Given the description of an element on the screen output the (x, y) to click on. 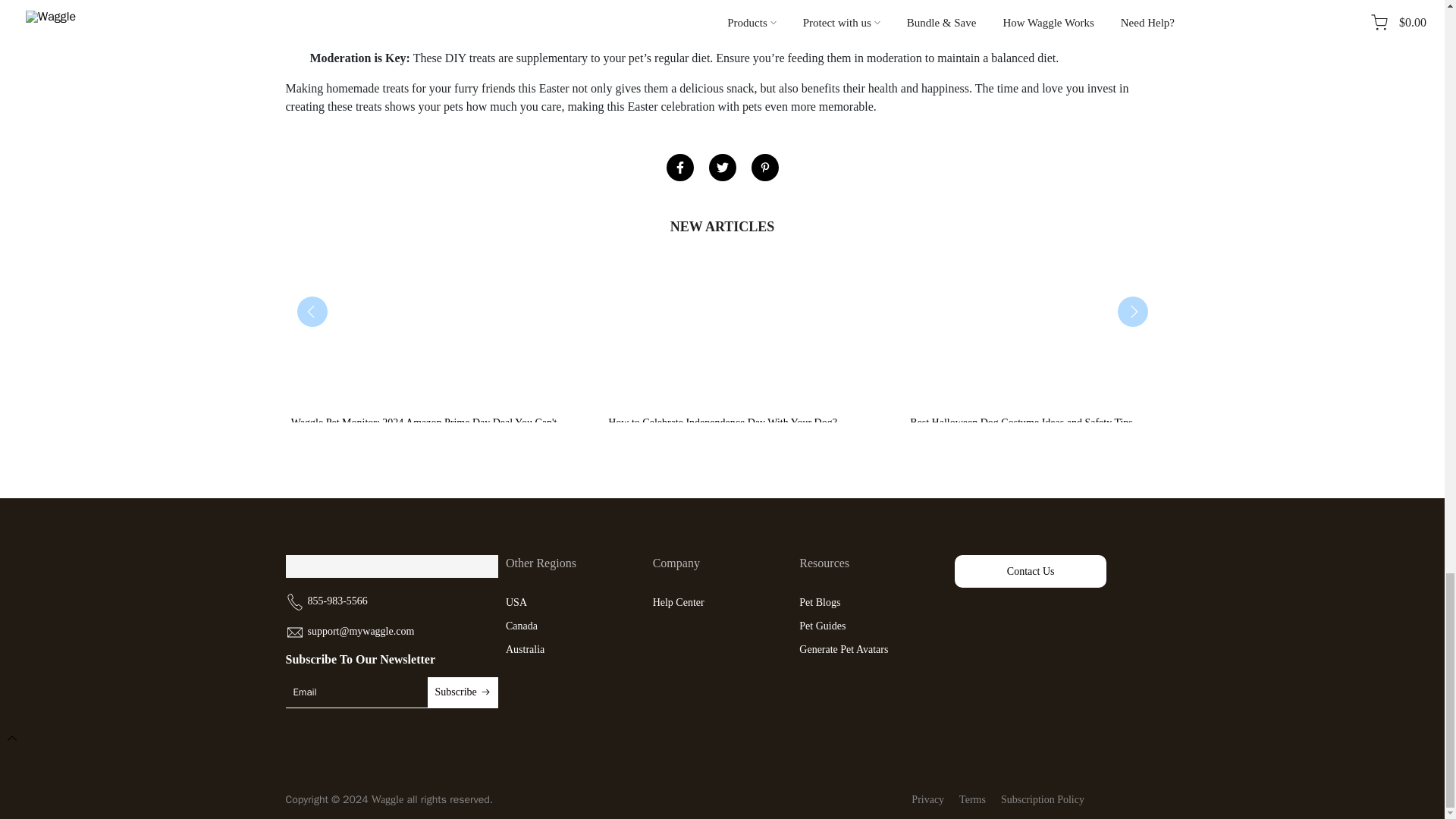
Share on Twitter (721, 166)
How to Celebrate Independence Day With Your Dog? (722, 423)
Share on Facebook (679, 166)
Best Halloween Dog Costume Ideas and Safety Tips (1021, 423)
Share on Pinterest (764, 166)
